Given the description of an element on the screen output the (x, y) to click on. 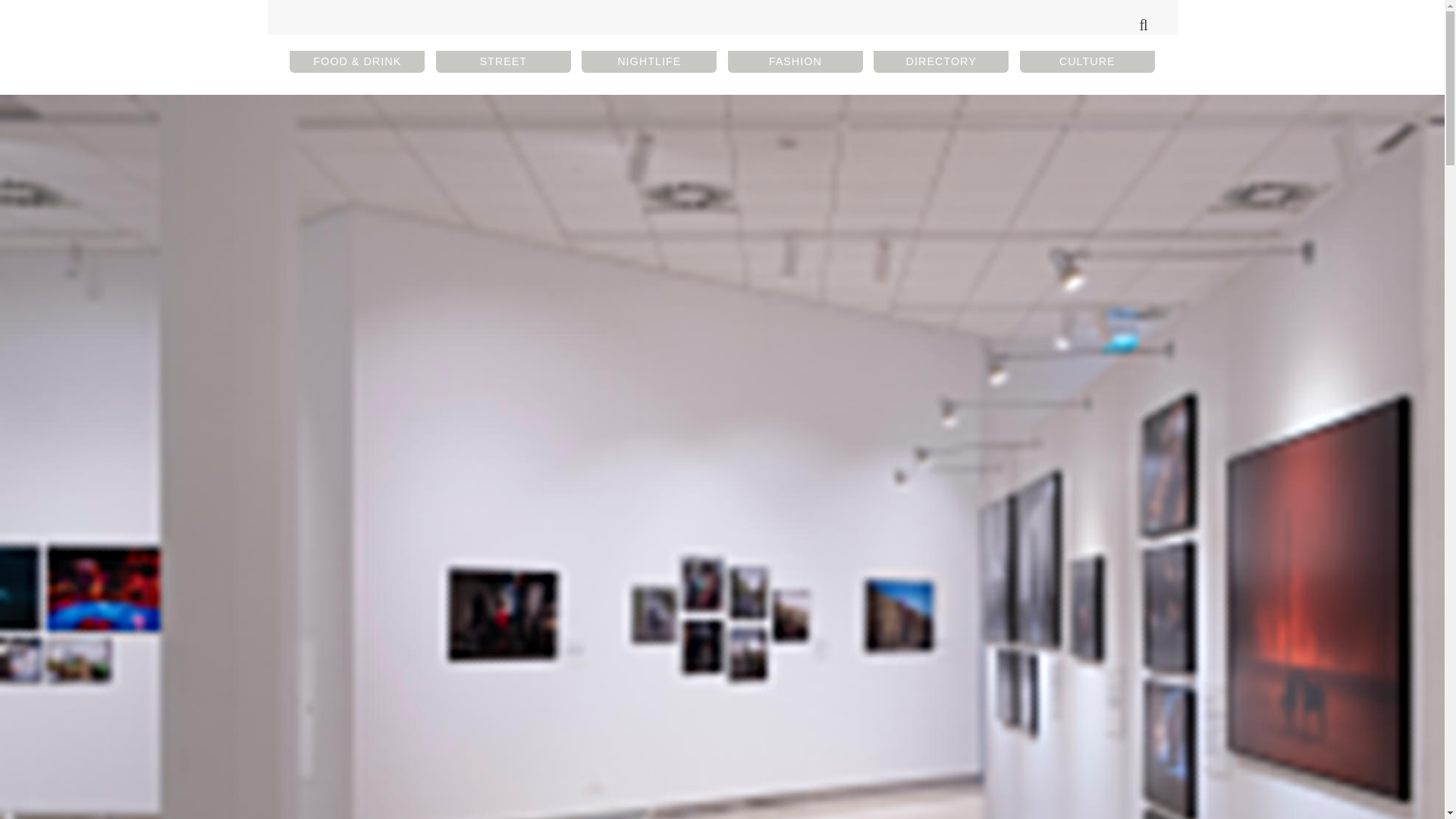
NIGHTLIFE (648, 61)
CULTURE (1087, 61)
STREET (502, 61)
FASHION (795, 61)
DIRECTORY (941, 61)
